Given the description of an element on the screen output the (x, y) to click on. 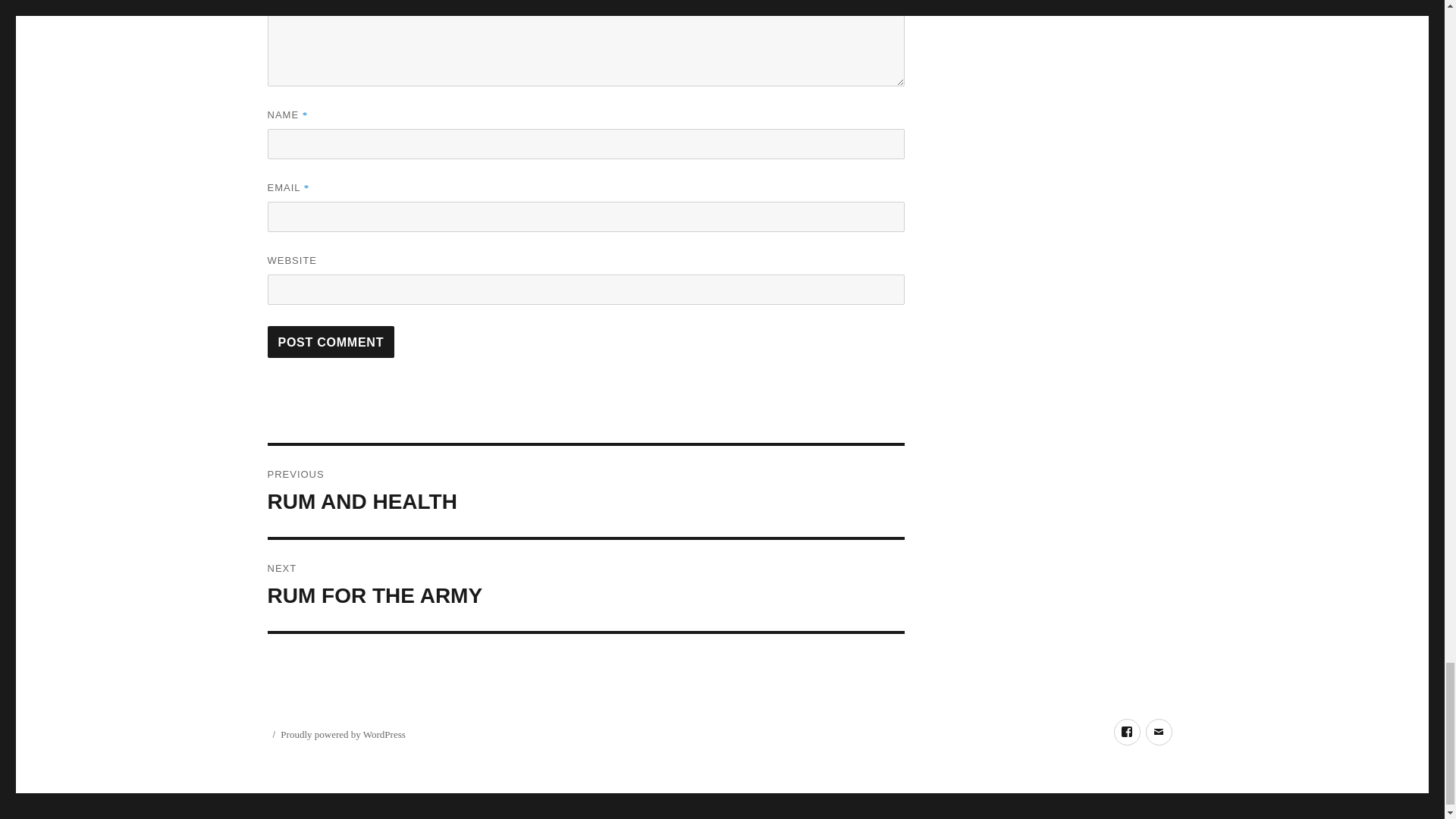
Post Comment (330, 341)
Post Comment (585, 584)
